Given the description of an element on the screen output the (x, y) to click on. 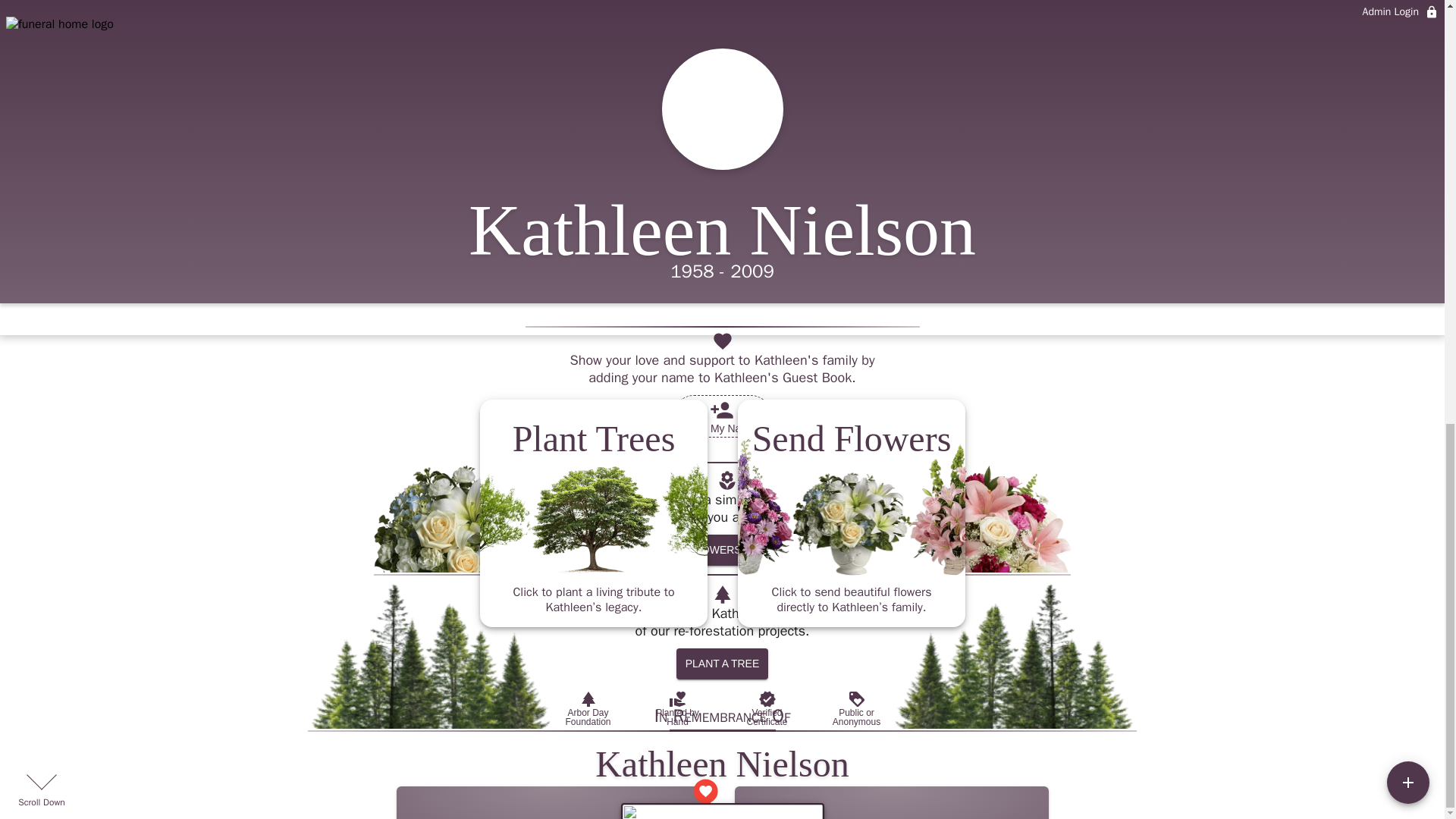
SEND FLOWERS TO FAMILY (727, 549)
Arbor Day Foundation (587, 708)
Planted by Hand (676, 708)
Verified Certificate (766, 708)
Add My Name (721, 415)
Public or Anonymous (855, 708)
PLANT A TREE (722, 663)
